Given the description of an element on the screen output the (x, y) to click on. 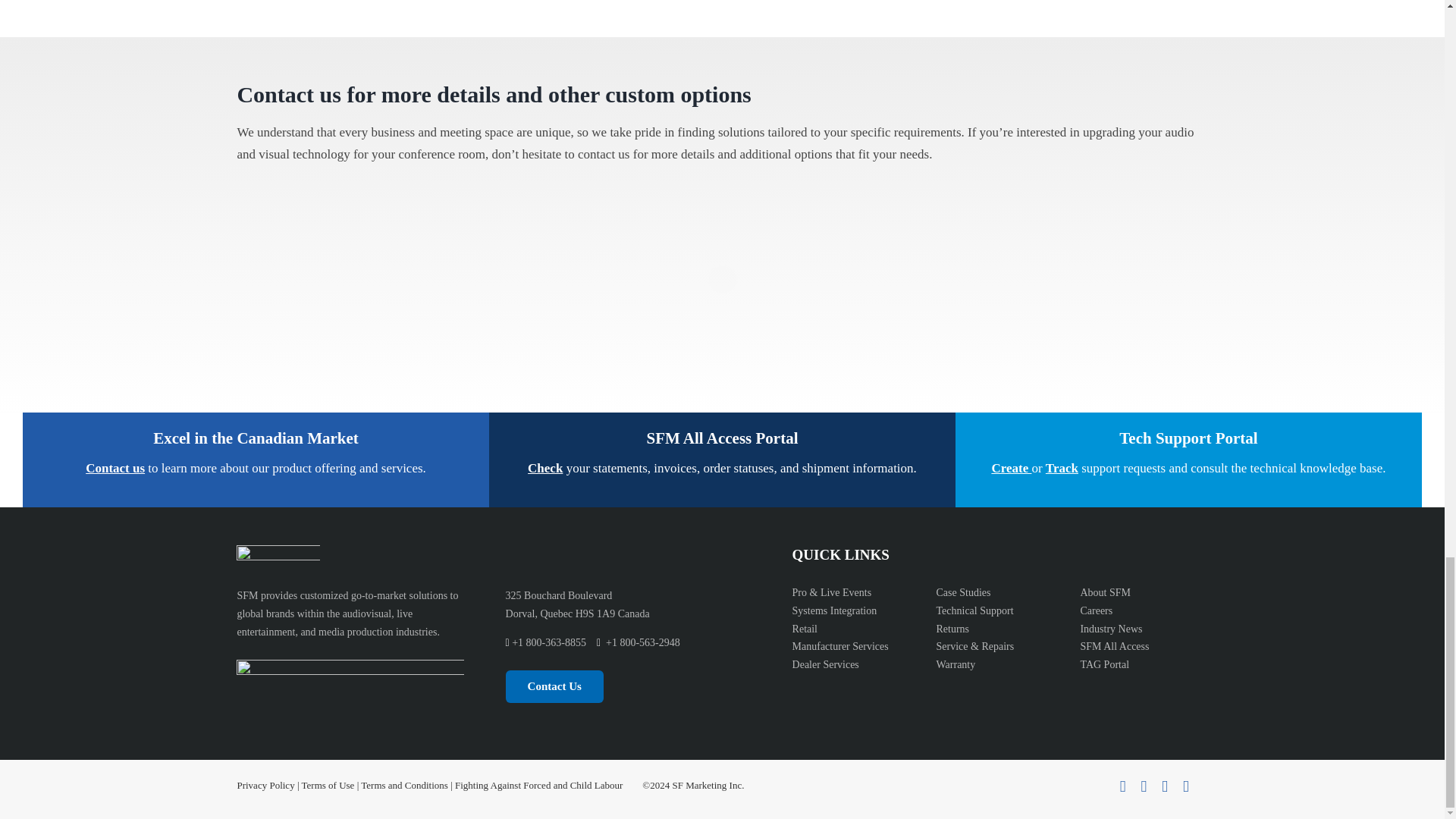
Track (1061, 468)
Create (1010, 468)
Check (544, 468)
Contact us (114, 468)
